Given the description of an element on the screen output the (x, y) to click on. 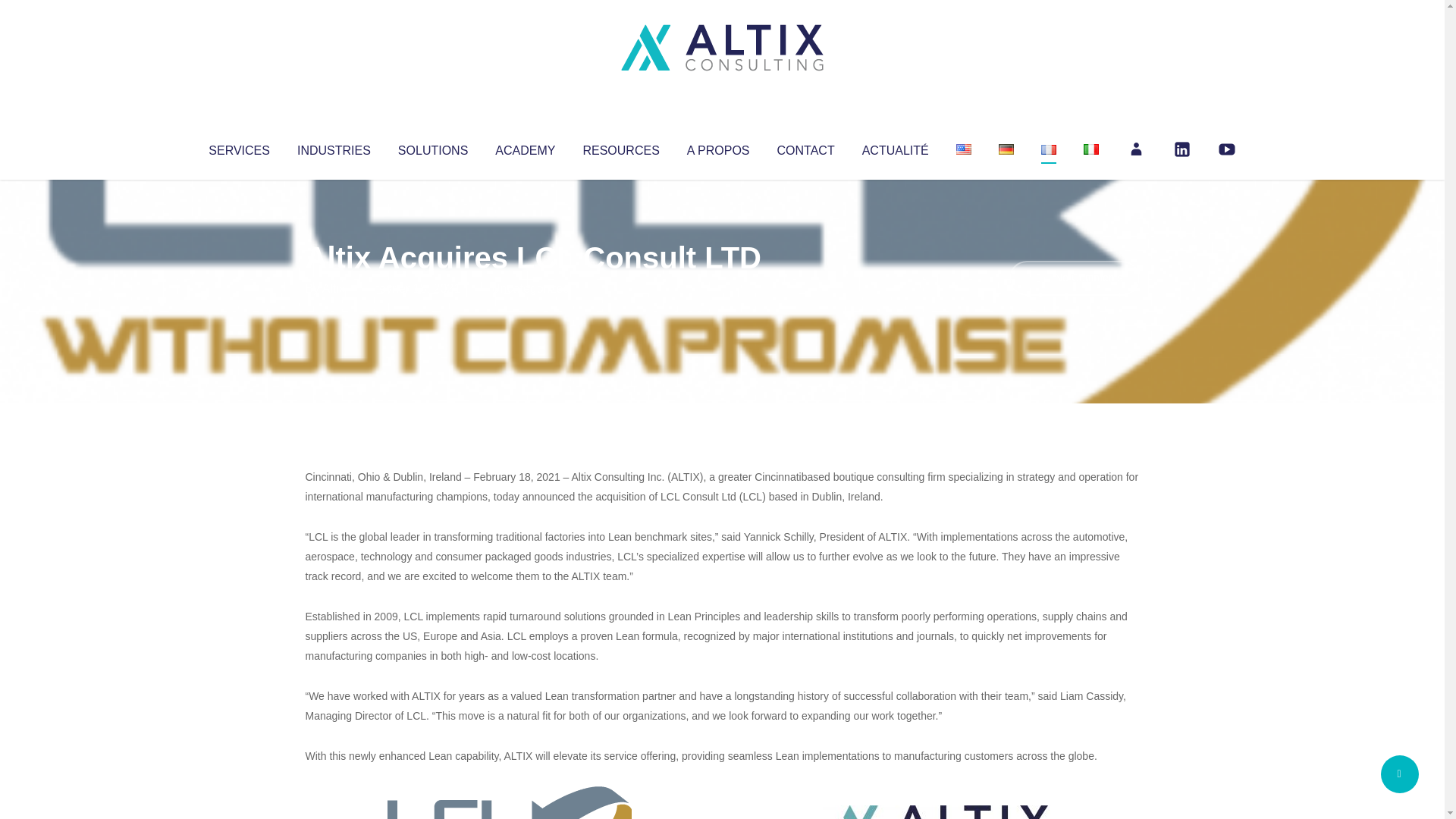
INDUSTRIES (334, 146)
ACADEMY (524, 146)
Altix (333, 287)
Articles par Altix (333, 287)
RESOURCES (620, 146)
A PROPOS (718, 146)
Uncategorized (530, 287)
No Comments (1073, 278)
SOLUTIONS (432, 146)
SERVICES (238, 146)
